Given the description of an element on the screen output the (x, y) to click on. 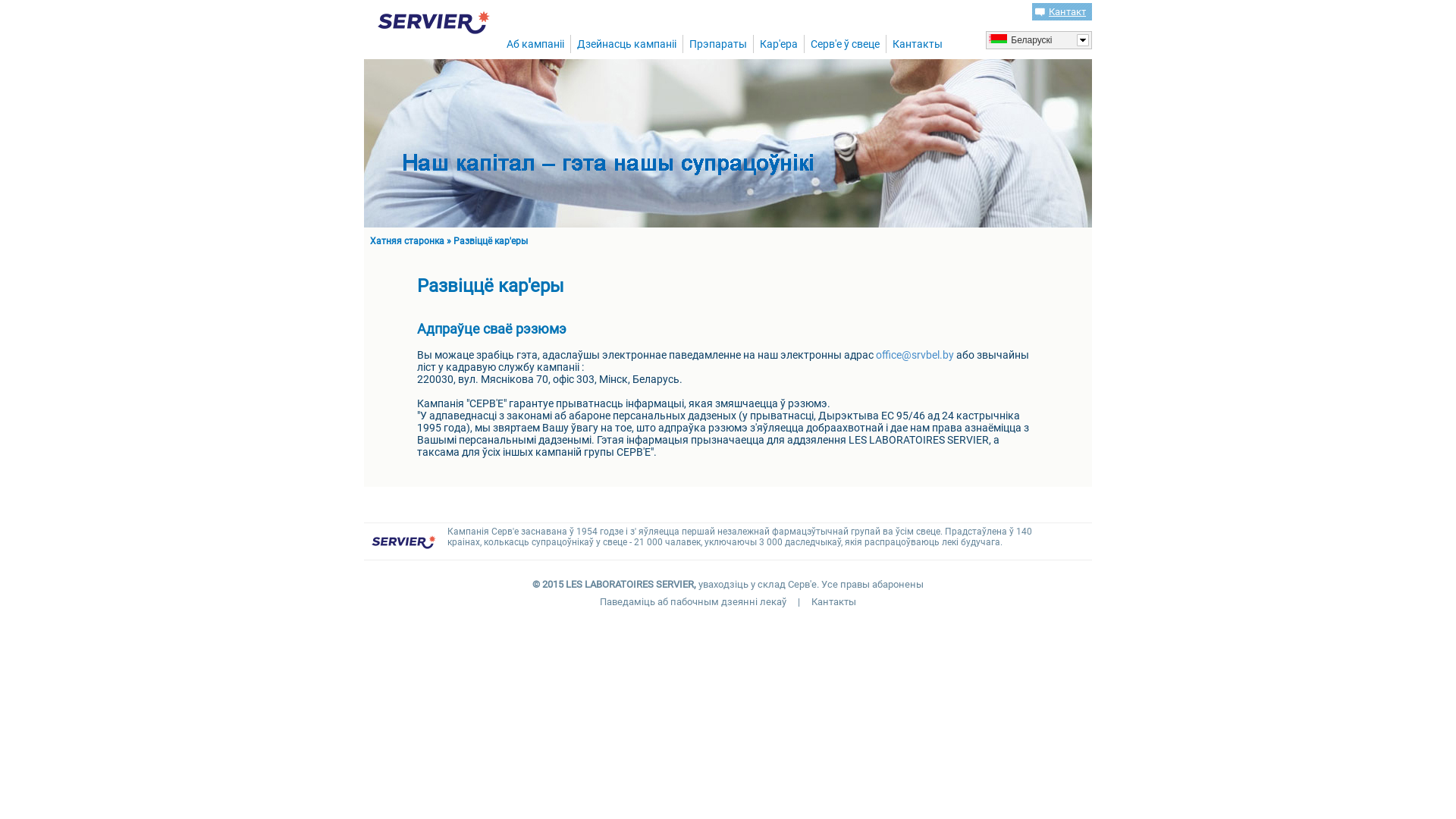
office@srvbel.by Element type: text (914, 354)
